Given the description of an element on the screen output the (x, y) to click on. 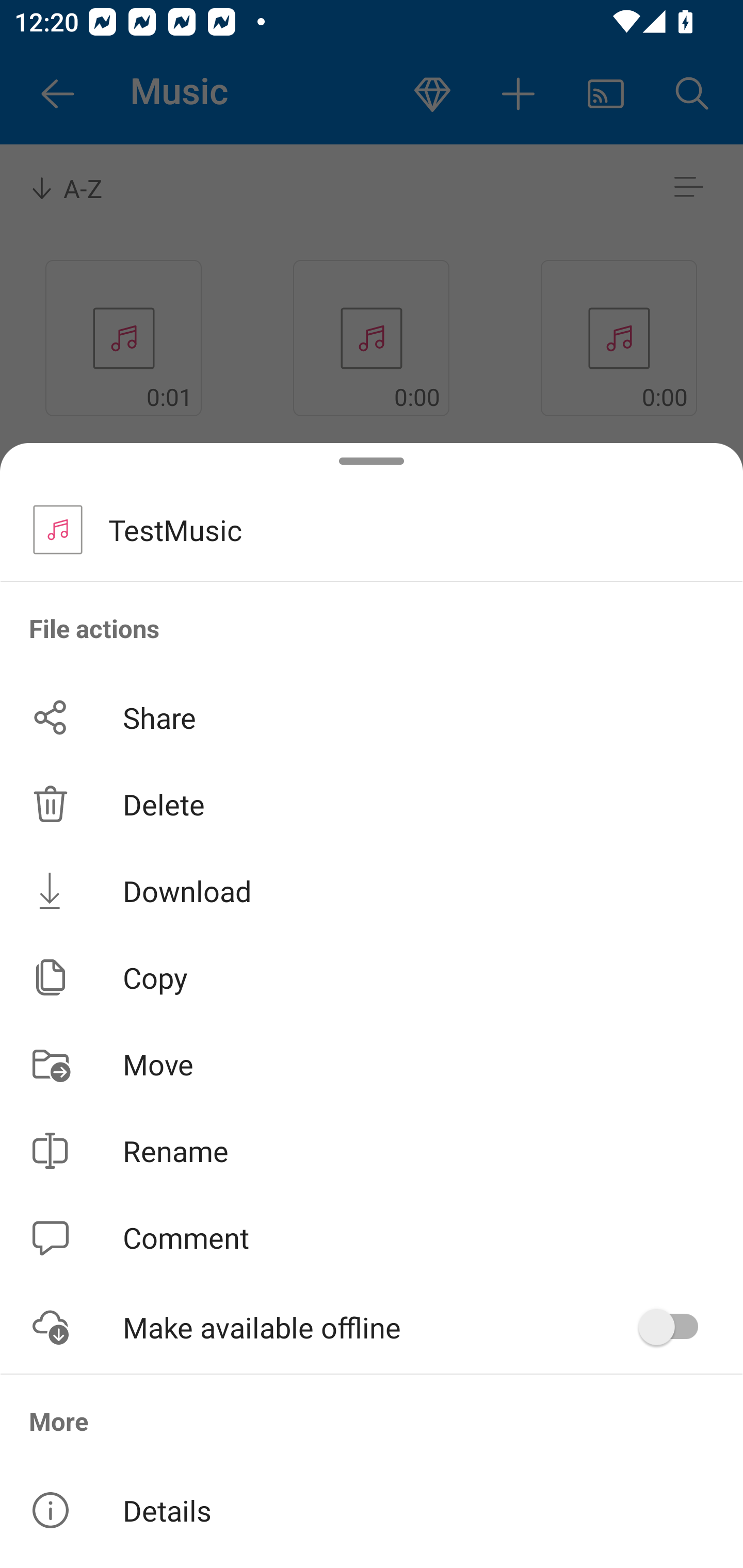
Share button Share (371, 717)
Delete button Delete (371, 803)
Download button Download (371, 890)
Copy button Copy (371, 977)
Move button Move (371, 1063)
Rename button Rename (371, 1150)
Comment button Comment (371, 1237)
Make offline operation (674, 1327)
Details button Details (371, 1510)
